Given the description of an element on the screen output the (x, y) to click on. 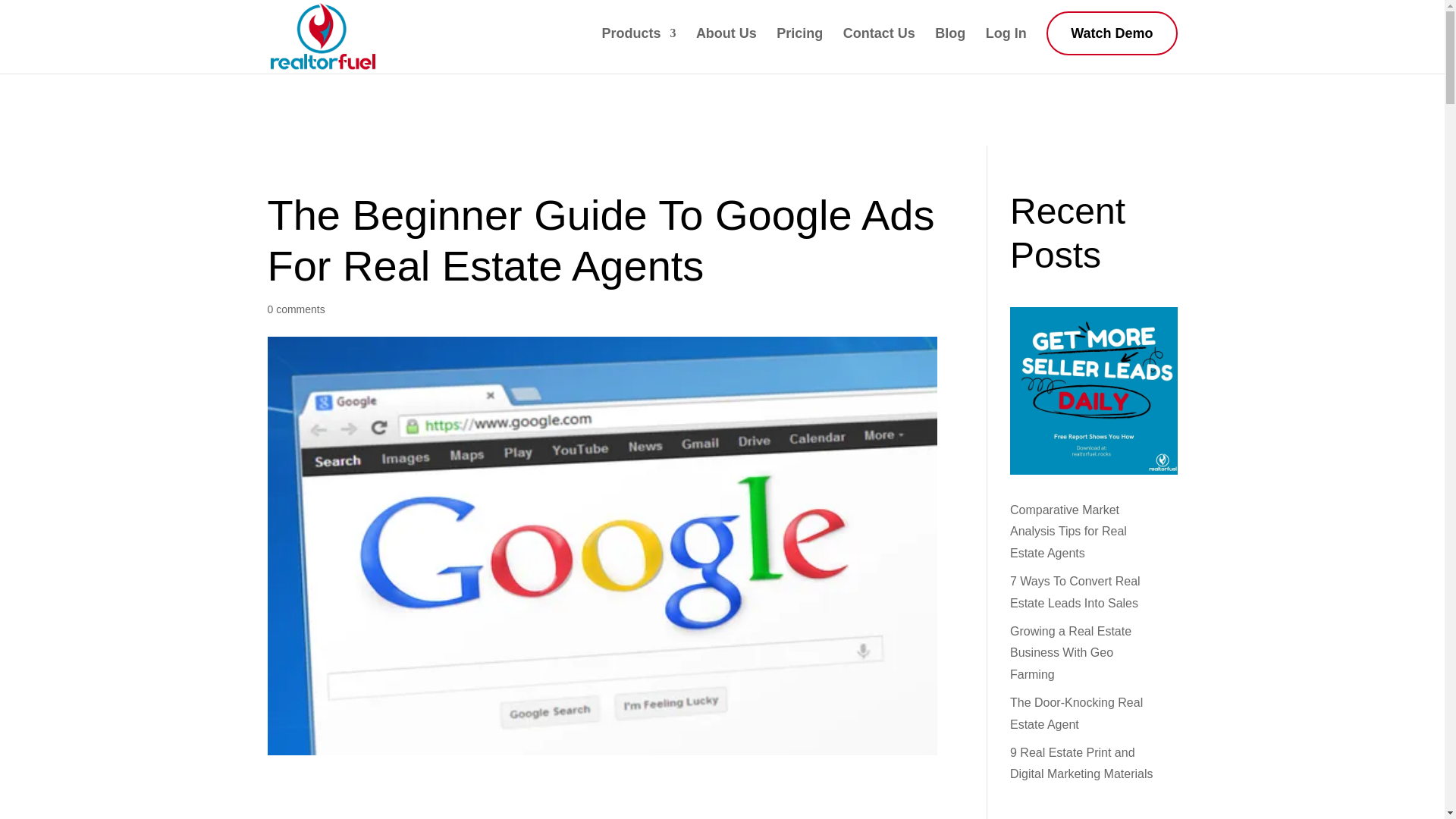
About Us (726, 44)
7 Ways To Convert Real Estate Leads Into Sales (1075, 591)
Contact Us (879, 44)
0 comments (295, 309)
Log In (1005, 44)
Comparative Market Analysis Tips for Real Estate Agents (1068, 531)
Growing a Real Estate Business With Geo Farming (1070, 652)
Blog (949, 44)
Products (638, 44)
Pricing (799, 44)
Watch Demo (1111, 33)
